Given the description of an element on the screen output the (x, y) to click on. 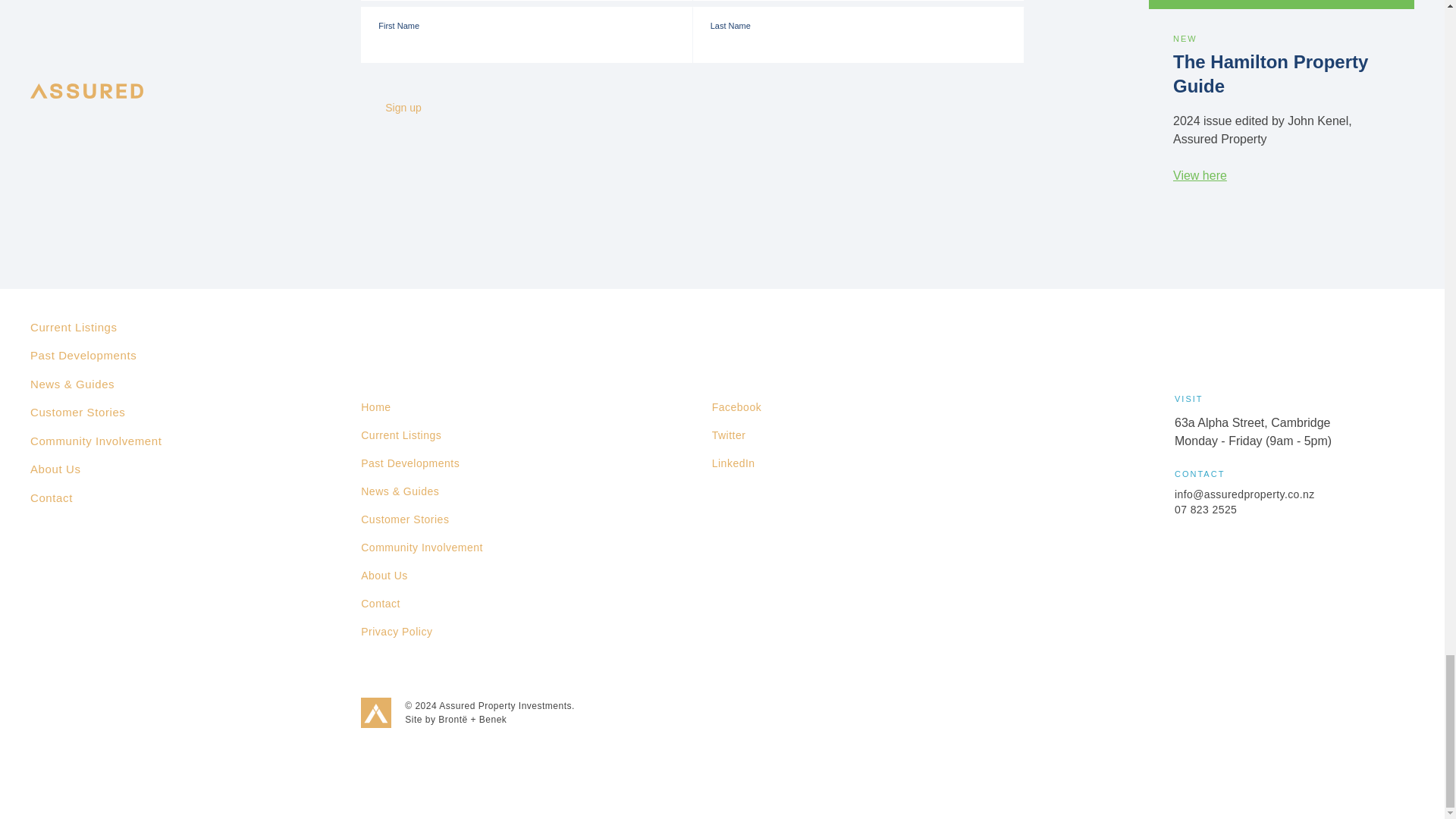
Current Listings (401, 435)
Home (375, 407)
Customer Stories (404, 519)
Sign up (417, 107)
Contact (380, 603)
View here (1200, 174)
Facebook (736, 407)
Twitter (728, 435)
Past Developments (410, 463)
Sign up (417, 107)
About Us (384, 575)
Community Involvement (422, 547)
Privacy Policy (396, 632)
